Given the description of an element on the screen output the (x, y) to click on. 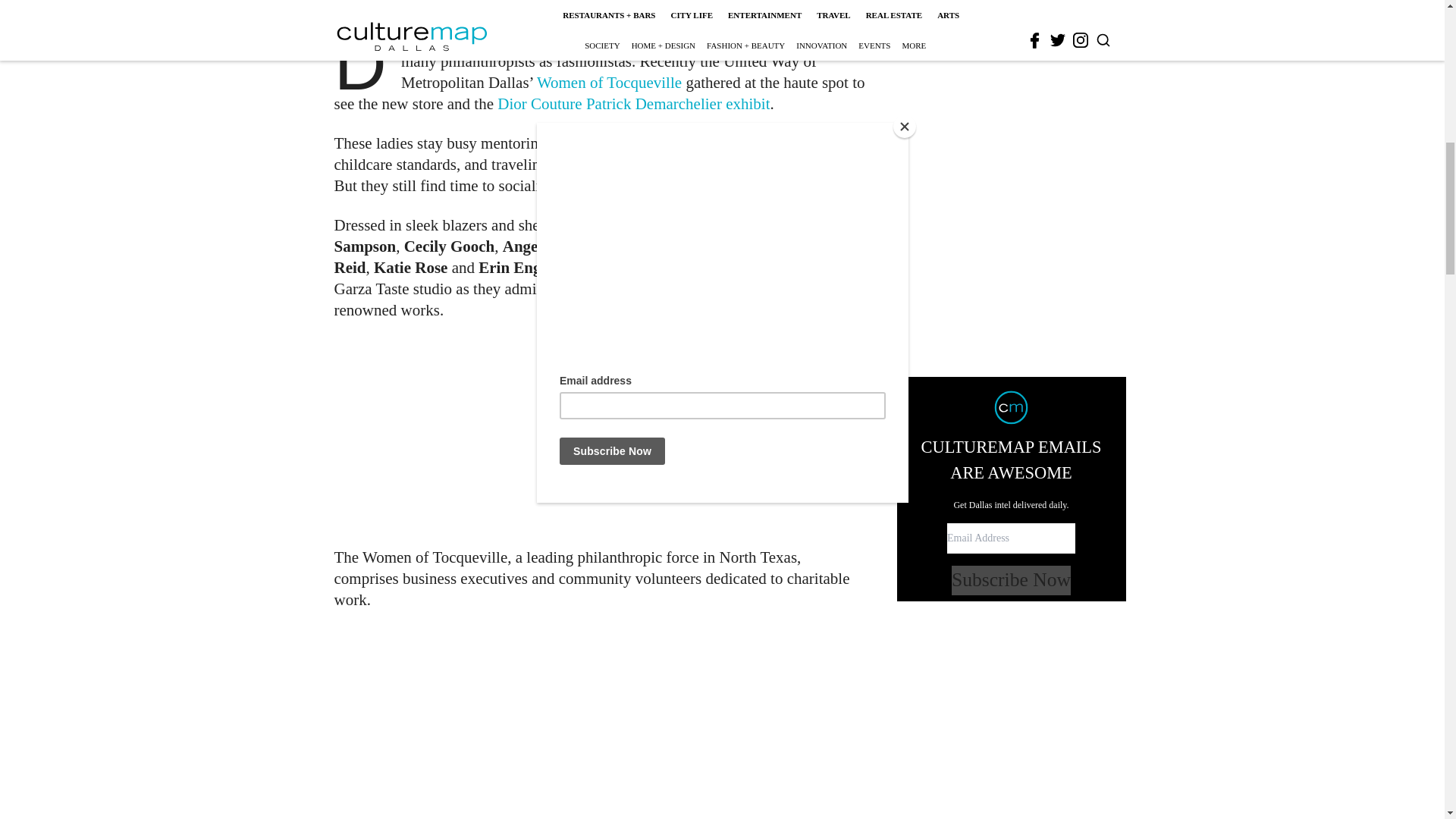
3rd party ad content (600, 433)
Subscribe Now (1011, 206)
